Given the description of an element on the screen output the (x, y) to click on. 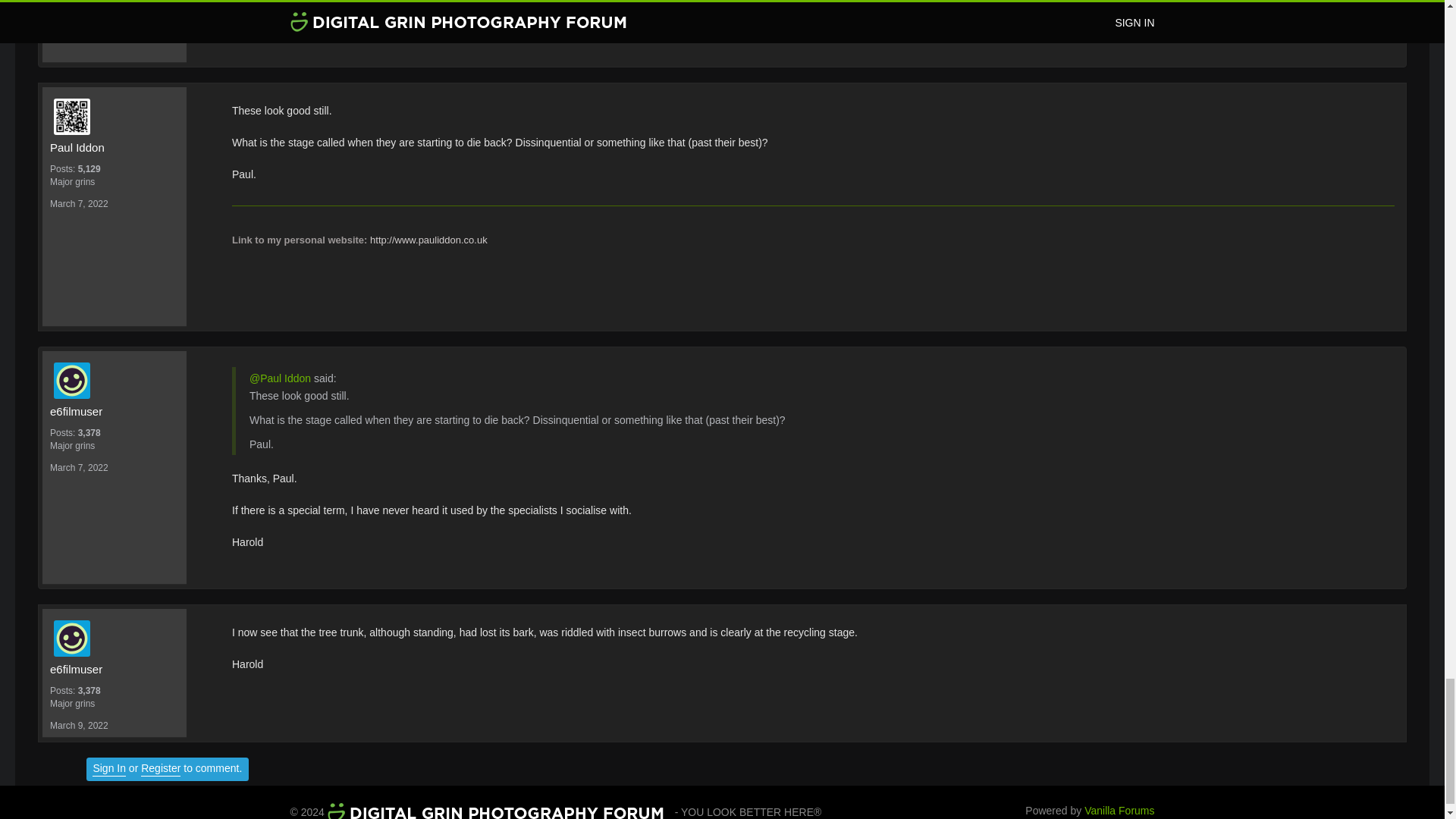
March 7, 2022 (78, 467)
e6filmuser (114, 669)
Sign In (109, 769)
Paul Iddon (114, 147)
e6filmuser (118, 380)
March 9, 2022 (78, 725)
Major grins (114, 182)
e6filmuser (114, 411)
March 7, 2022 (78, 204)
Paul Iddon (118, 116)
